Given the description of an element on the screen output the (x, y) to click on. 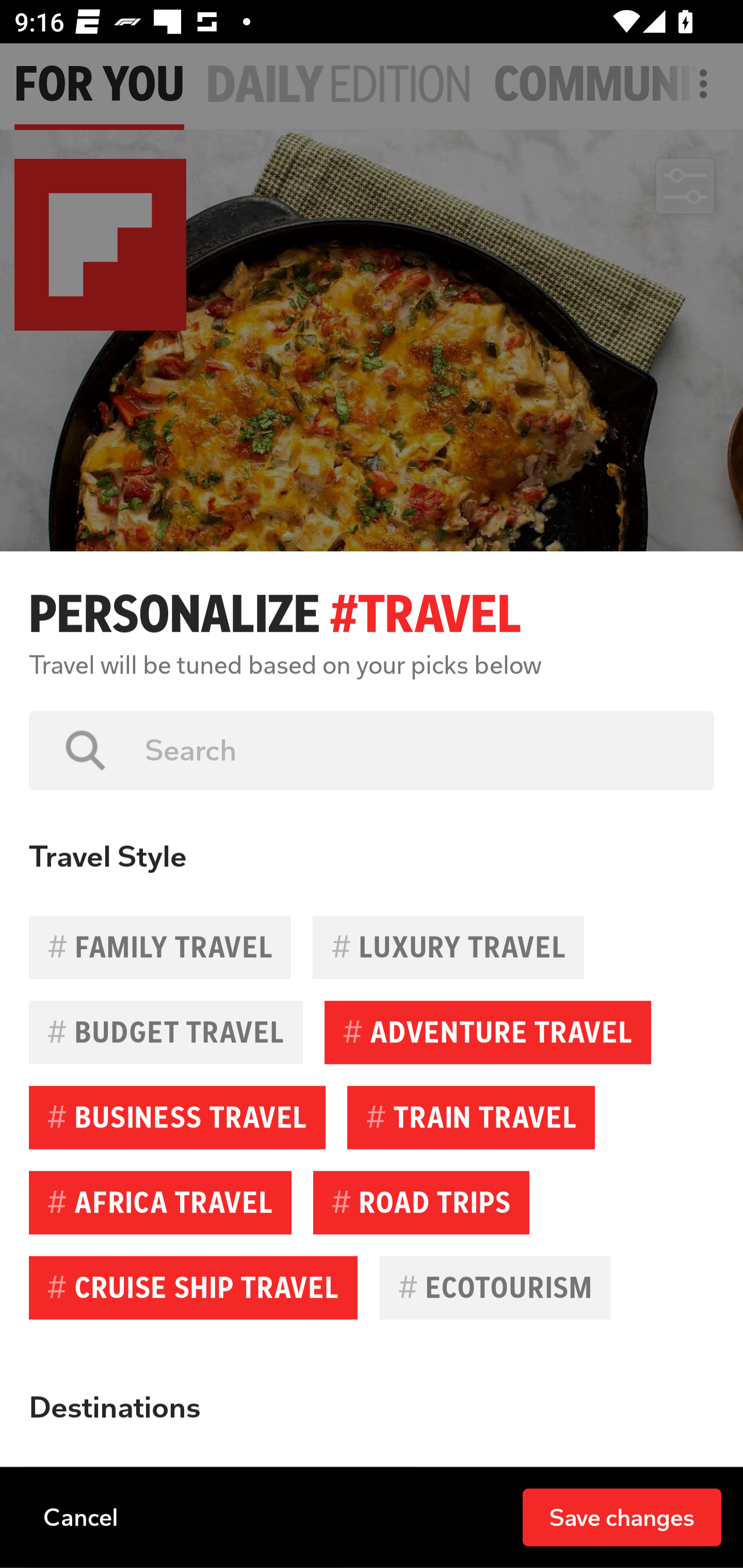
Search (414, 750)
# FAMILY TRAVEL (159, 946)
# LUXURY TRAVEL (447, 946)
# BUDGET TRAVEL (165, 1032)
# ADVENTURE TRAVEL (487, 1032)
# BUSINESS TRAVEL (176, 1117)
# TRAIN TRAVEL (470, 1117)
# AFRICA TRAVEL (159, 1202)
# ROAD TRIPS (421, 1202)
# CRUISE SHIP TRAVEL (192, 1286)
# ECOTOURISM (494, 1286)
Cancel (80, 1516)
Save changes (621, 1517)
